Given the description of an element on the screen output the (x, y) to click on. 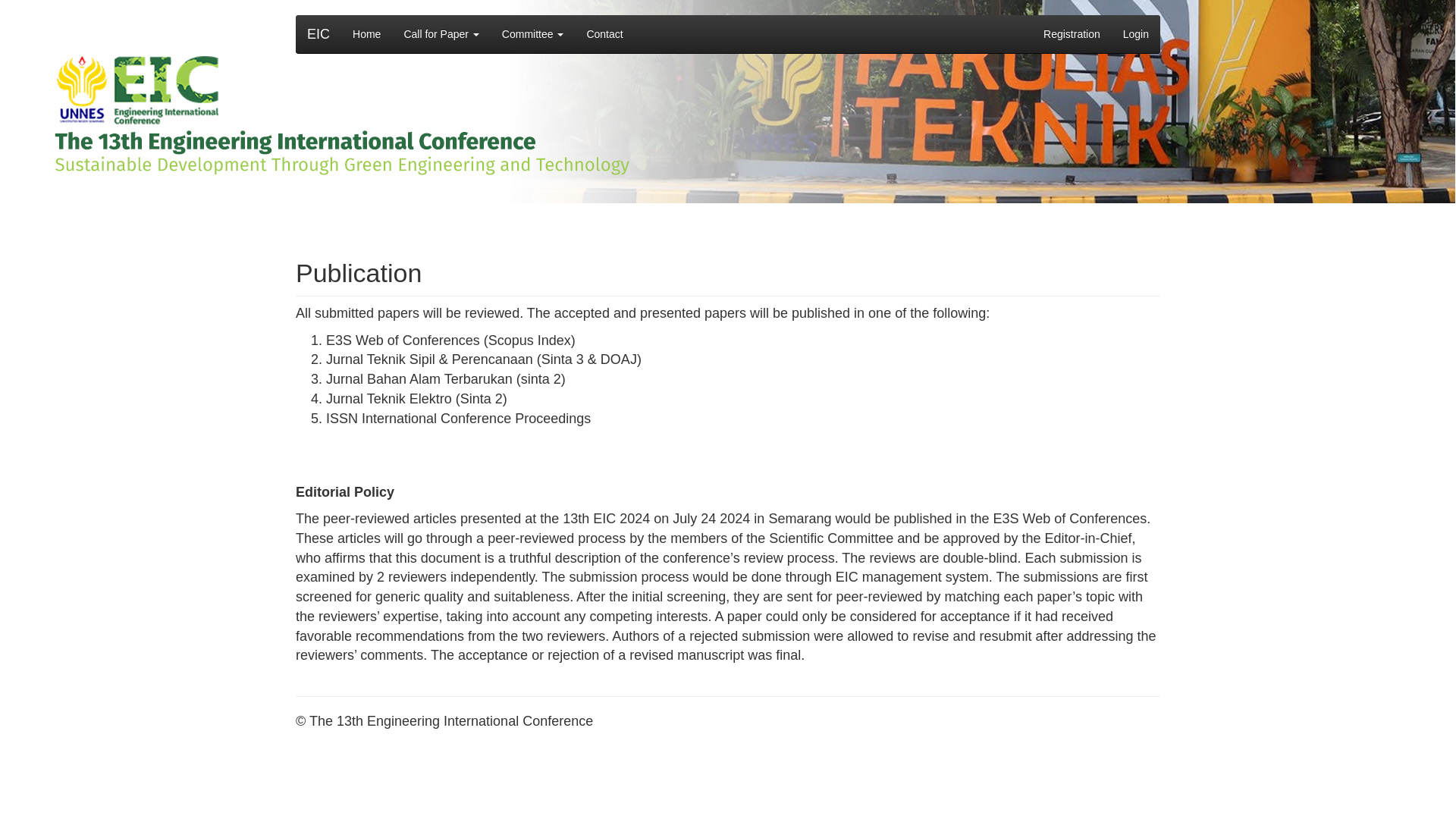
Contact (604, 34)
Login (1136, 34)
Call for Paper (440, 34)
Committee (532, 34)
Home (365, 34)
EIC (317, 34)
Registration (1072, 34)
